Given the description of an element on the screen output the (x, y) to click on. 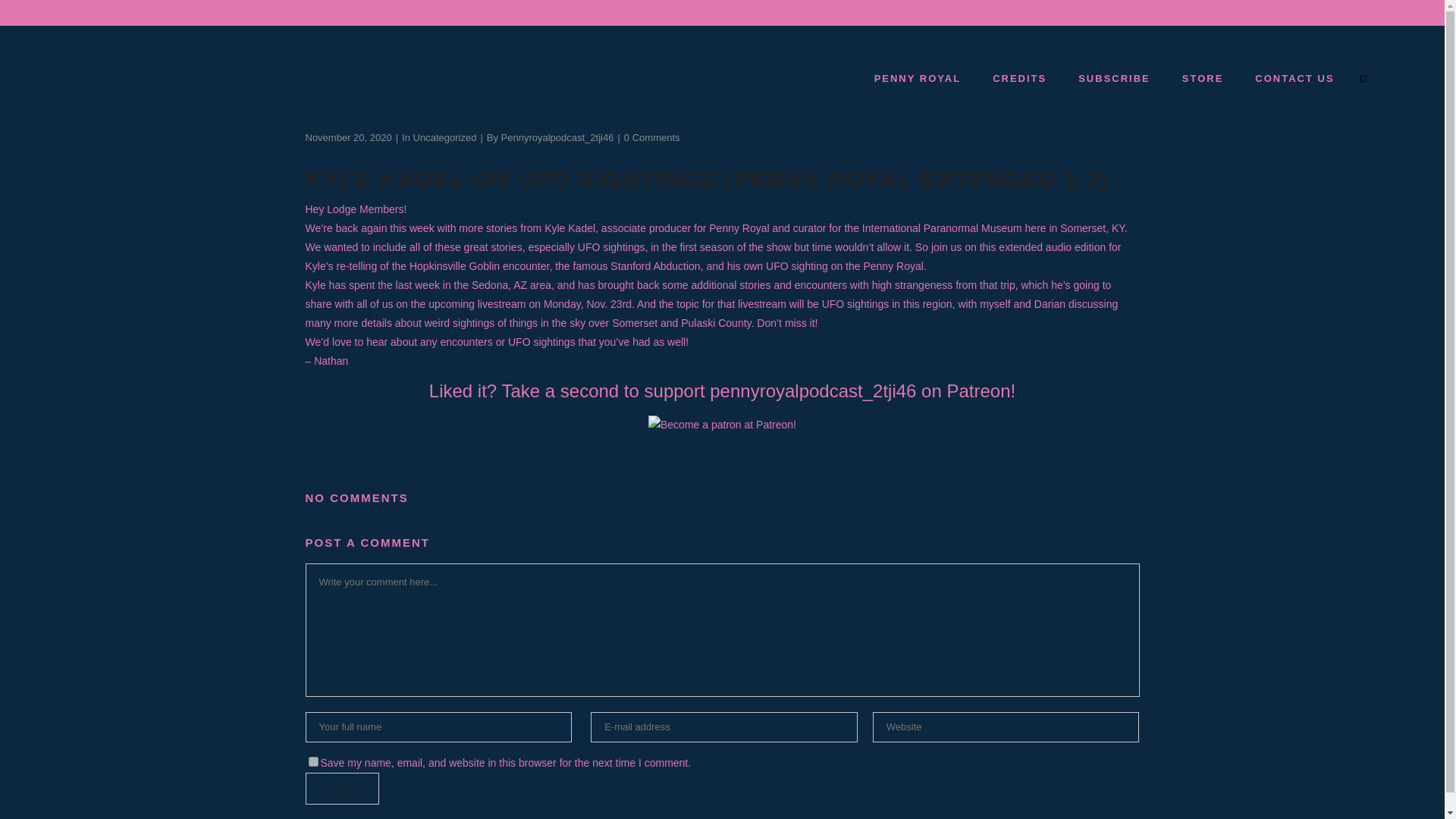
Uncategorized (445, 137)
Submit (341, 788)
PENNY ROYAL (917, 78)
yes (312, 761)
U (998, 412)
0 Comments (651, 137)
Submit (341, 788)
SUBSCRIBE (1113, 78)
CONTACT US (1294, 78)
